Given the description of an element on the screen output the (x, y) to click on. 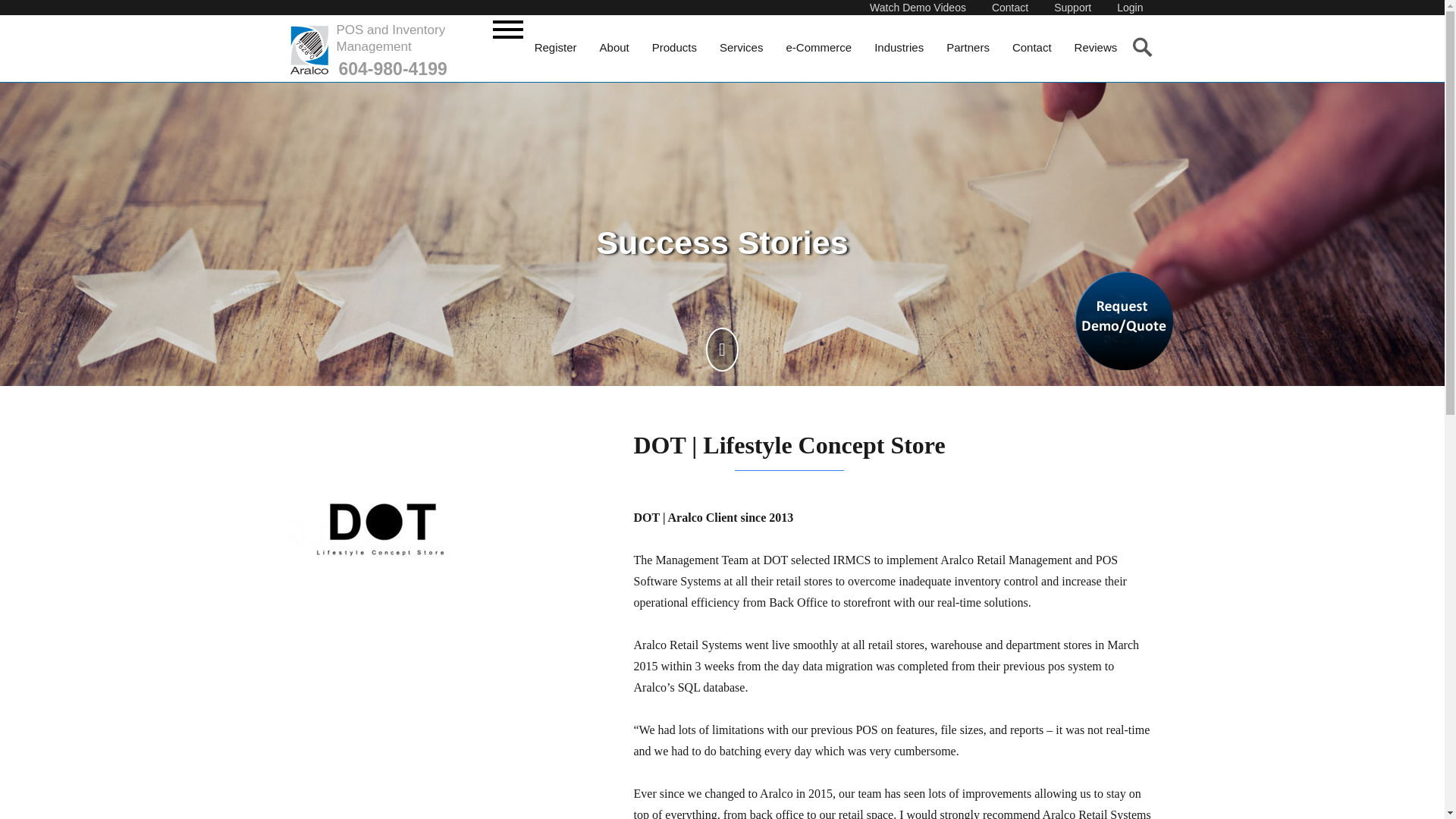
SEARCH (1141, 46)
Products (673, 46)
POS and Inventory Management (387, 38)
e-Commerce (818, 46)
About (614, 46)
Partners (967, 46)
Support (1072, 7)
Login (1129, 7)
Contact (1009, 7)
Watch Demo Videos (917, 7)
